Given the description of an element on the screen output the (x, y) to click on. 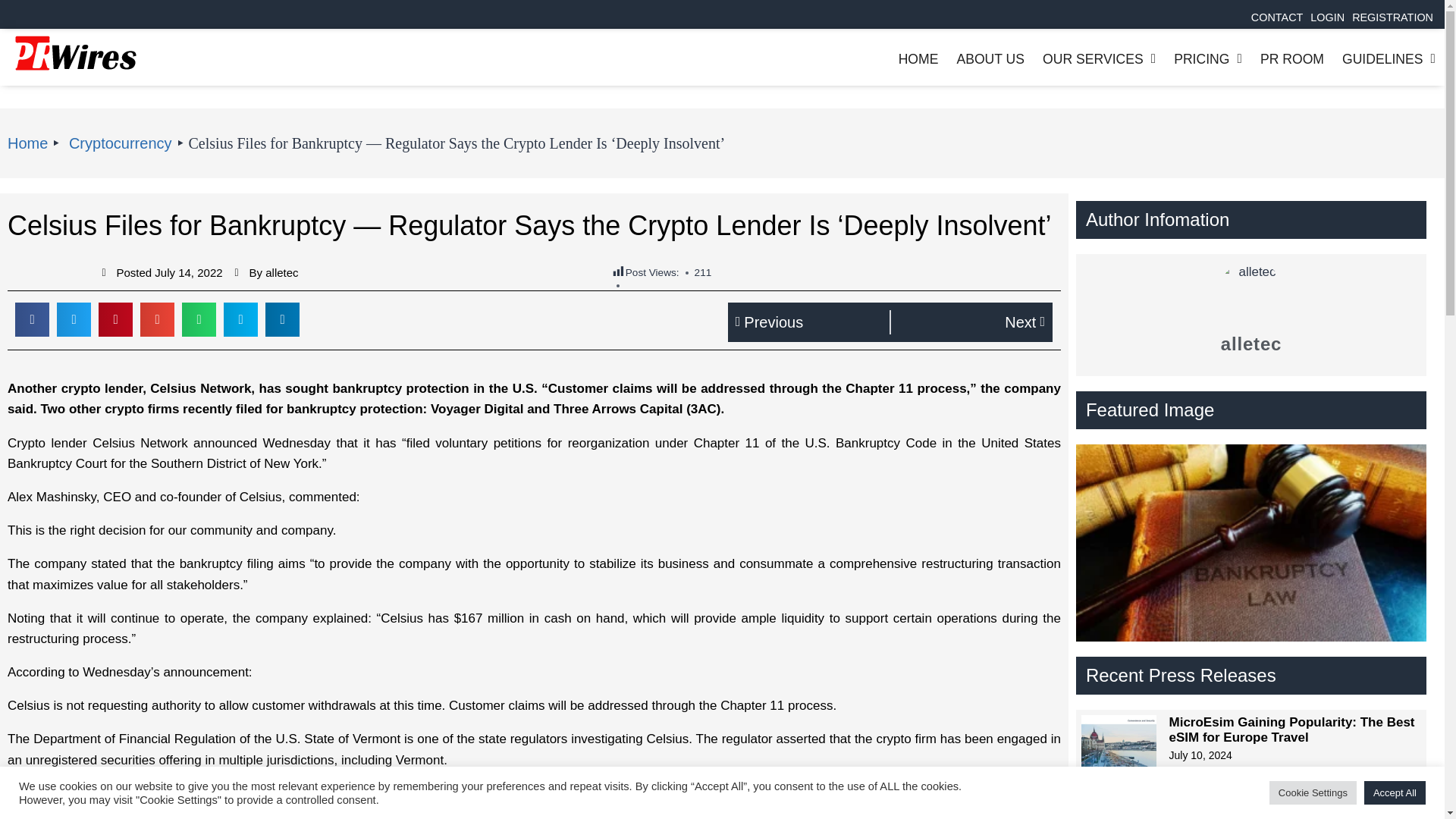
OUR SERVICES (1098, 58)
CONTACT (1276, 17)
REGISTRATION (1392, 17)
ABOUT US (990, 58)
PR ROOM (1291, 58)
HOME (918, 58)
LOGIN (1327, 17)
PRICING (1207, 58)
